Given the description of an element on the screen output the (x, y) to click on. 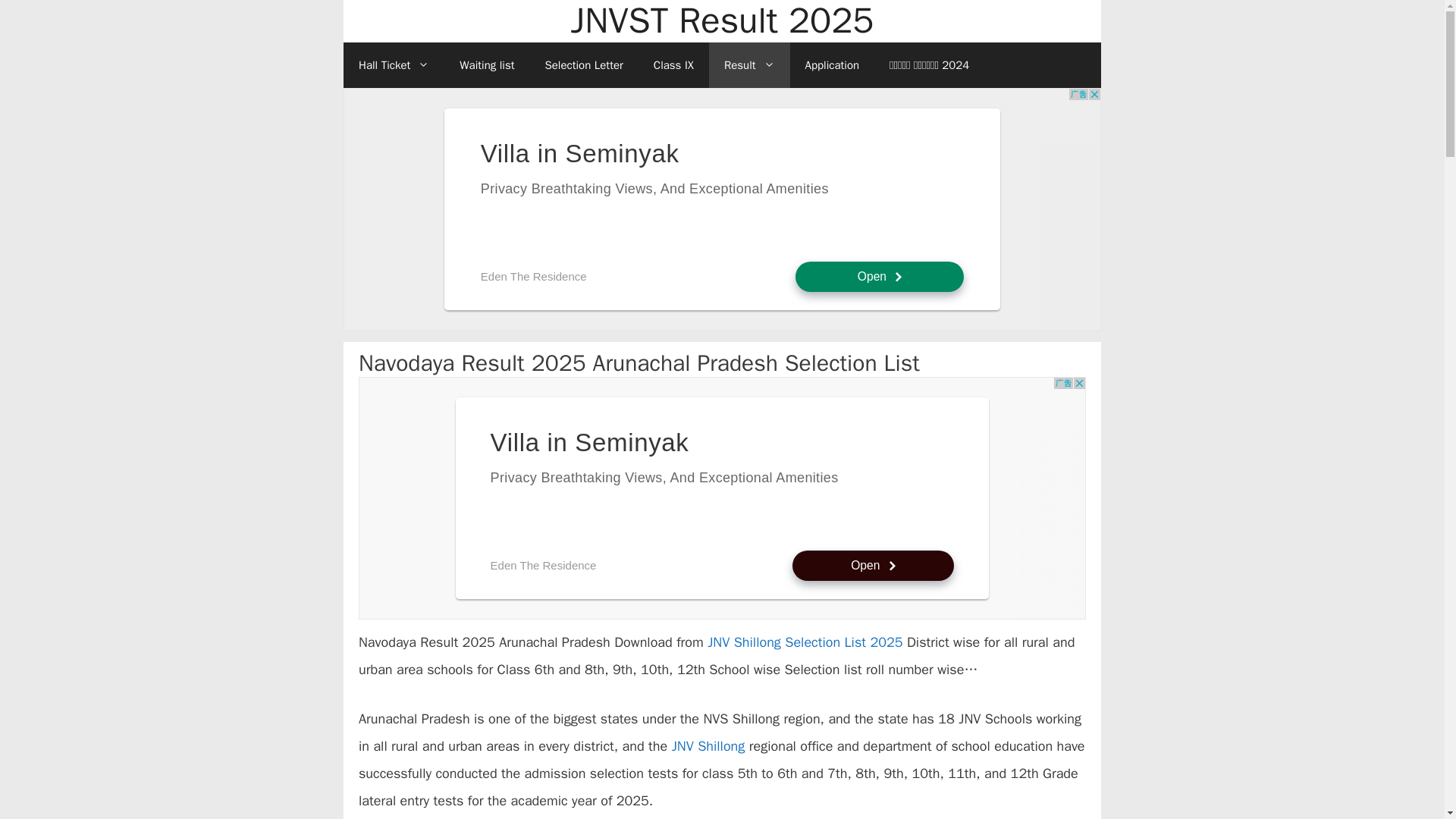
Waiting list (486, 64)
Selection Letter (583, 64)
JNV Shillong Selection List 2025 (804, 641)
JNV Shillong (708, 745)
Result (749, 64)
Class IX (674, 64)
Hall Ticket (393, 64)
Application (832, 64)
